Given the description of an element on the screen output the (x, y) to click on. 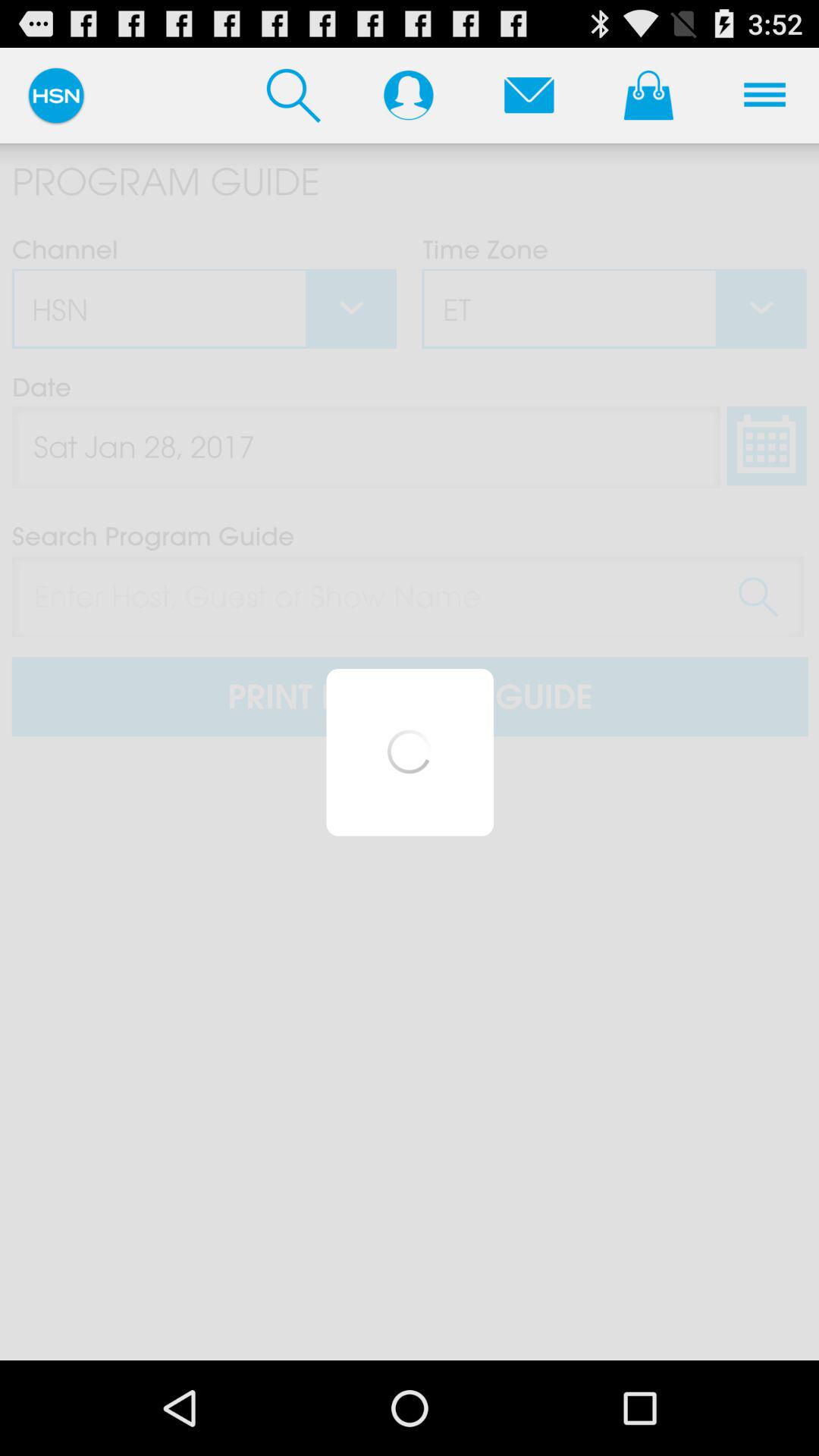
messages page (529, 95)
